Given the description of an element on the screen output the (x, y) to click on. 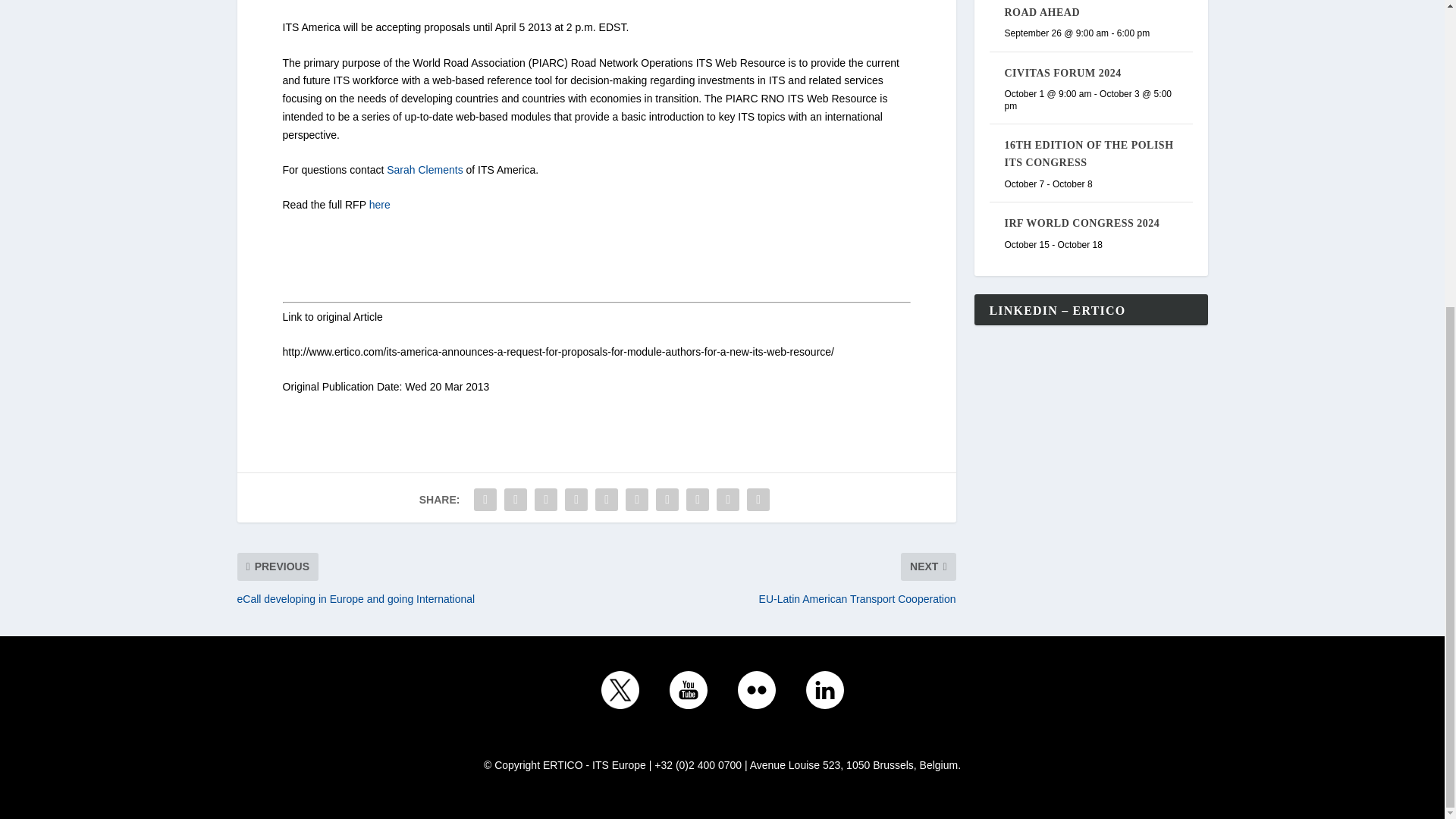
CIVITAS FORUM 2024 (1062, 72)
here (379, 204)
SHOW PROJECT FINAL EVENT: ACHIEVEMENTS AND THE ROAD AHEAD (1089, 9)
Sarah Clements (425, 169)
